Given the description of an element on the screen output the (x, y) to click on. 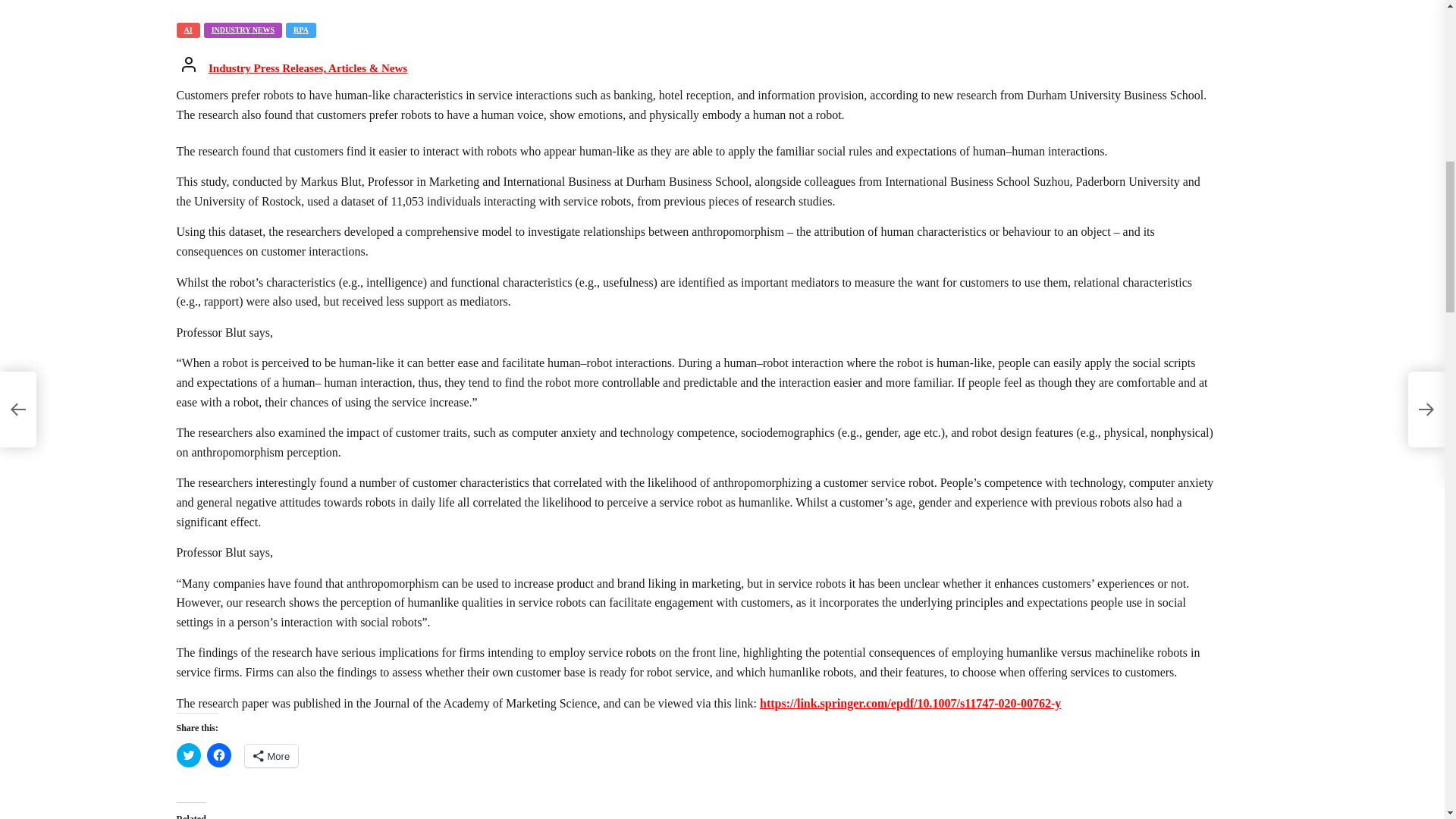
Click to share on Facebook (218, 754)
Click to share on Twitter (188, 754)
